Given the description of an element on the screen output the (x, y) to click on. 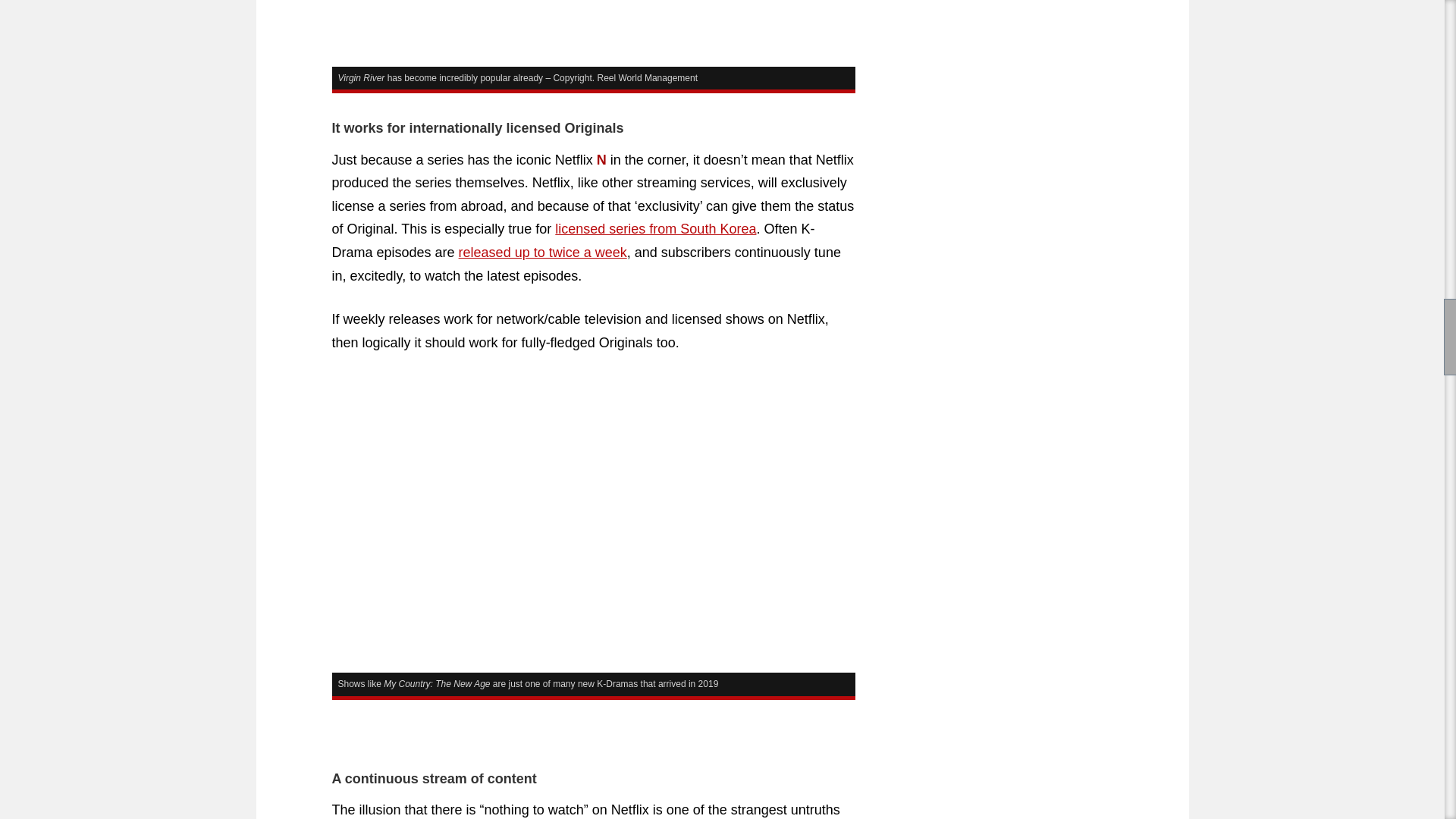
Virgin River Season 2 Renewed By Netflix (593, 33)
licensed series from South Korea (654, 228)
released up to twice a week (542, 252)
